Given the description of an element on the screen output the (x, y) to click on. 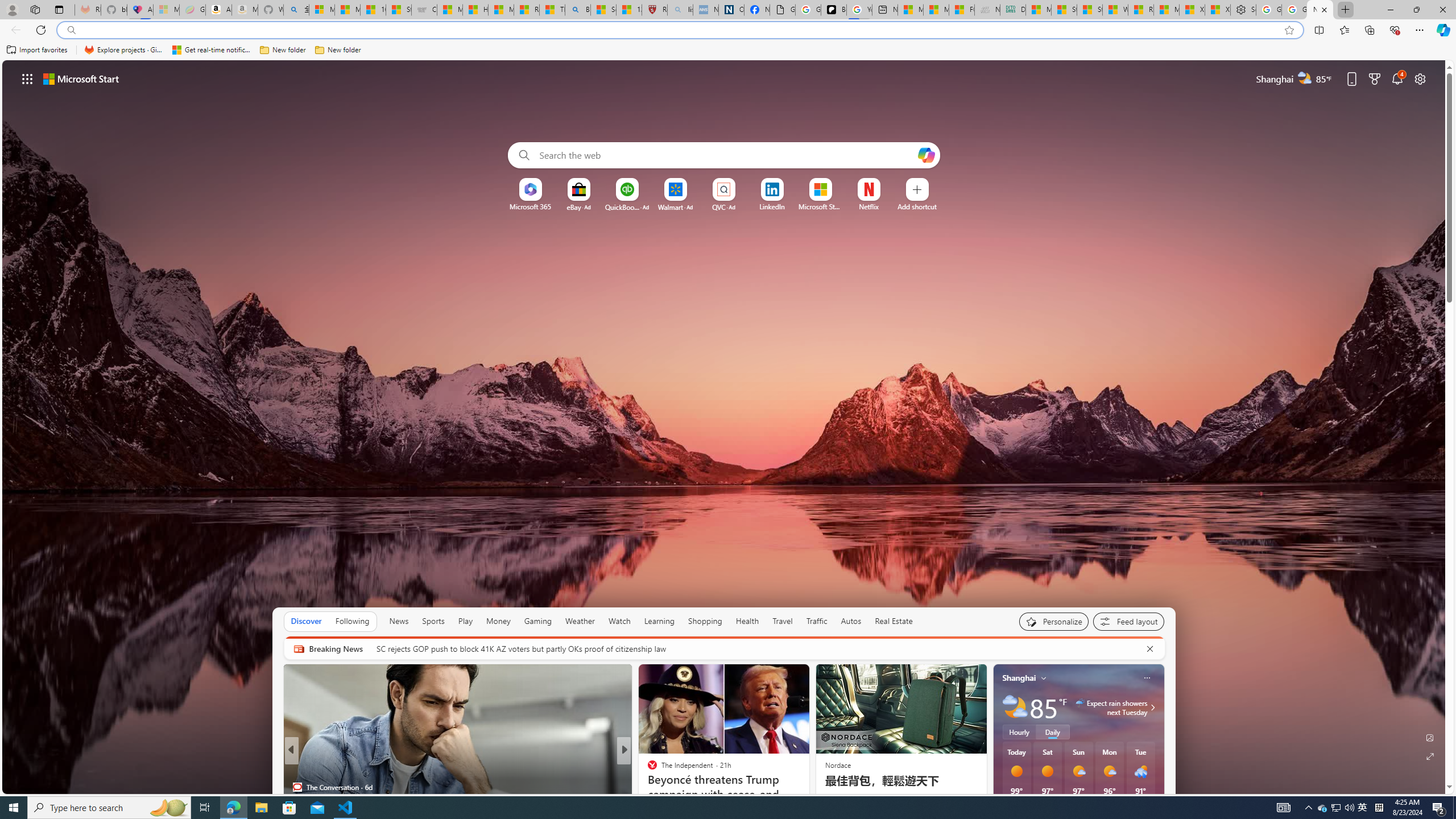
Sad songs say so much: 20 songs that help deal with grief (807, 796)
Cancel (1150, 648)
